Given the description of an element on the screen output the (x, y) to click on. 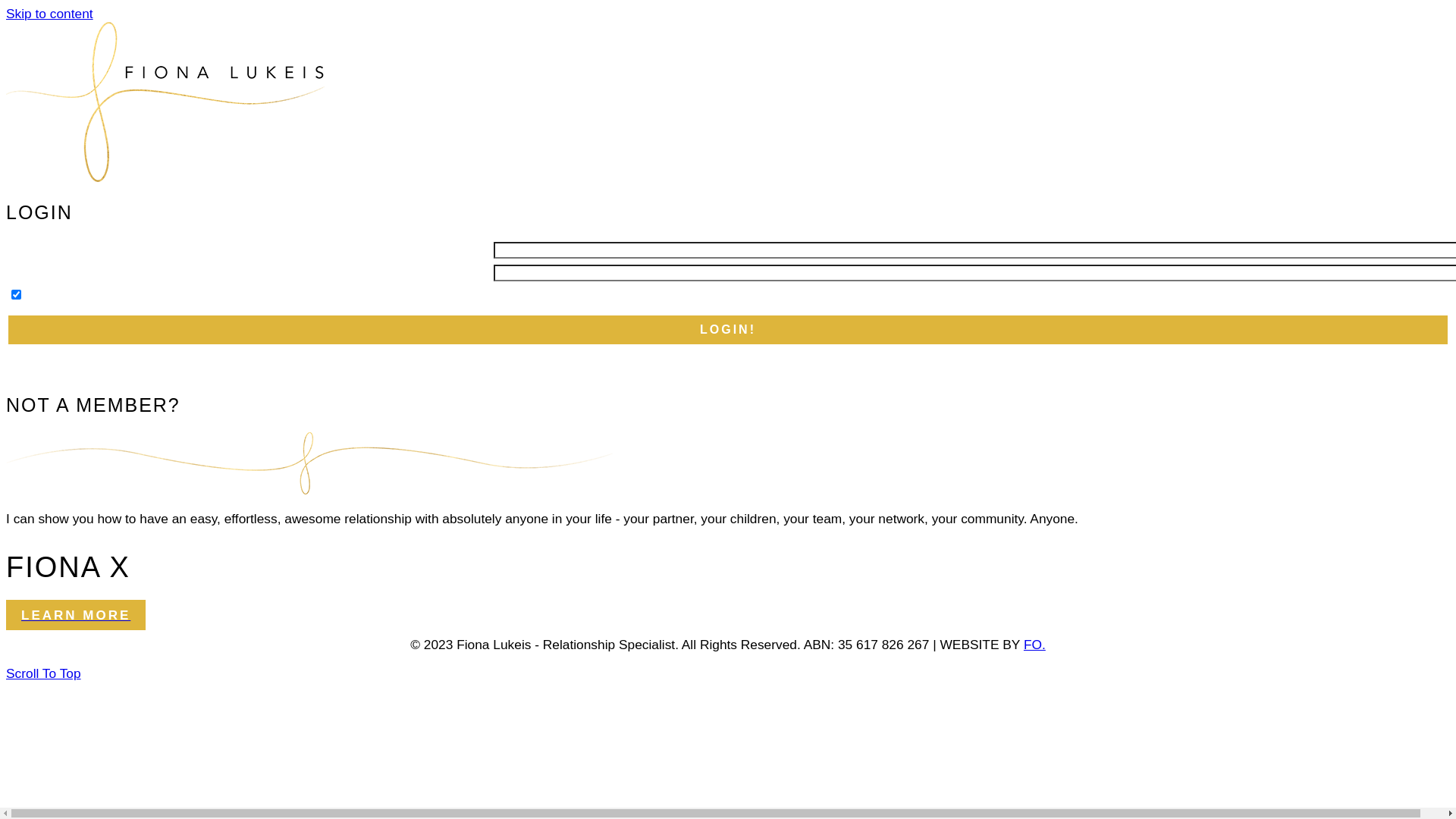
Login! Element type: text (727, 329)
Skip to content Element type: text (49, 13)
FO. Element type: text (1034, 644)
Scroll To Top Element type: text (43, 672)
logo-retina Element type: hover (165, 101)
Lost your password? Element type: text (970, 361)
LEARN MORE Element type: text (75, 614)
